Given the description of an element on the screen output the (x, y) to click on. 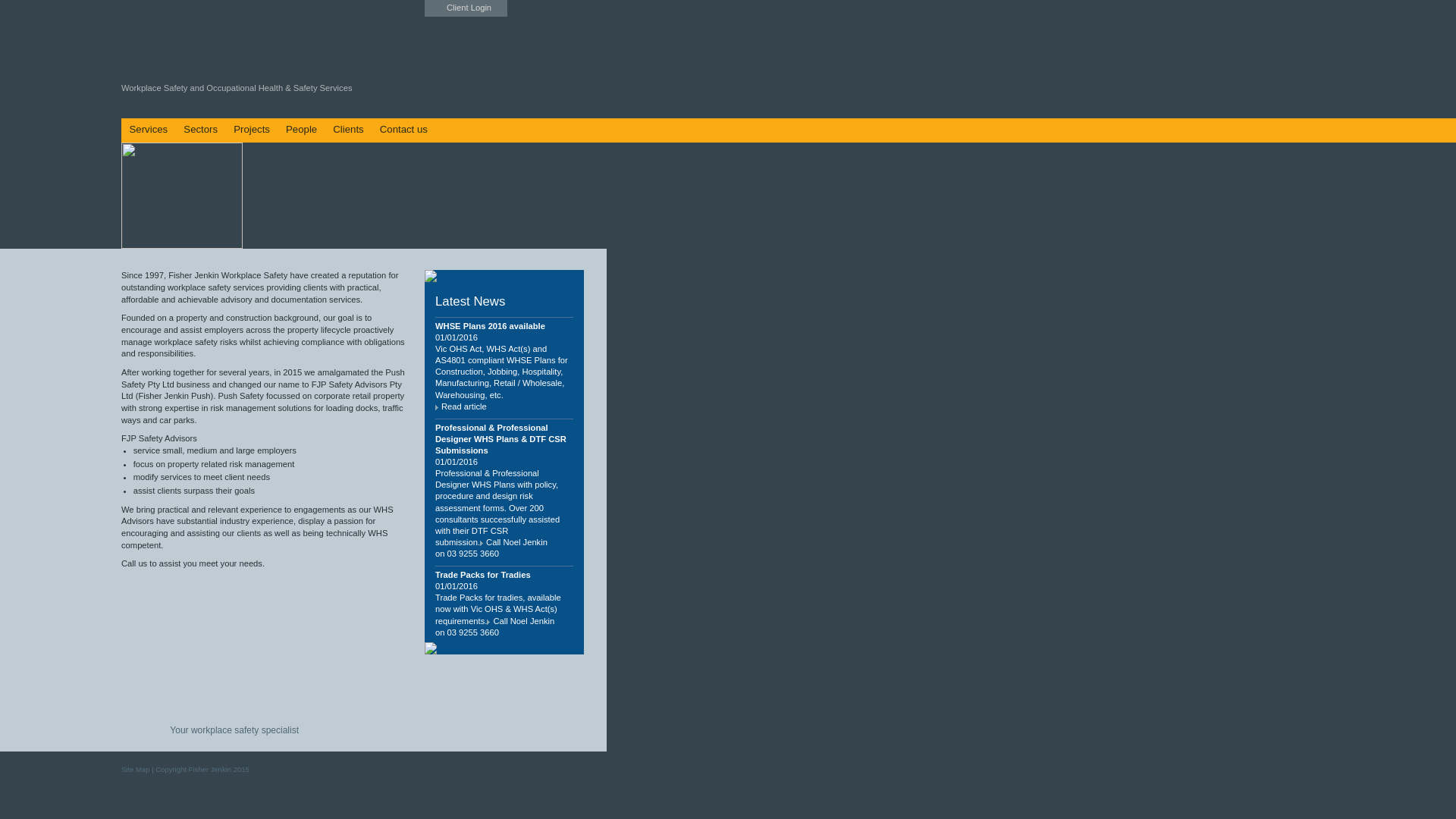
Call Noel Jenkin Element type: text (513, 541)
Client Login Element type: text (465, 8)
Services Element type: text (148, 130)
Fisher Jenkin Element type: hover (60, 195)
Projects Element type: text (251, 130)
Call Noel Jenkin Element type: text (520, 620)
Site Map Element type: text (135, 769)
Sectors Element type: text (200, 130)
People Element type: text (300, 130)
WHSE Plans 2016 available Element type: text (490, 325)
Read article Element type: text (460, 406)
Print this page Element type: hover (595, 128)
Clients Element type: text (348, 130)
Contact us Element type: text (403, 130)
